Given the description of an element on the screen output the (x, y) to click on. 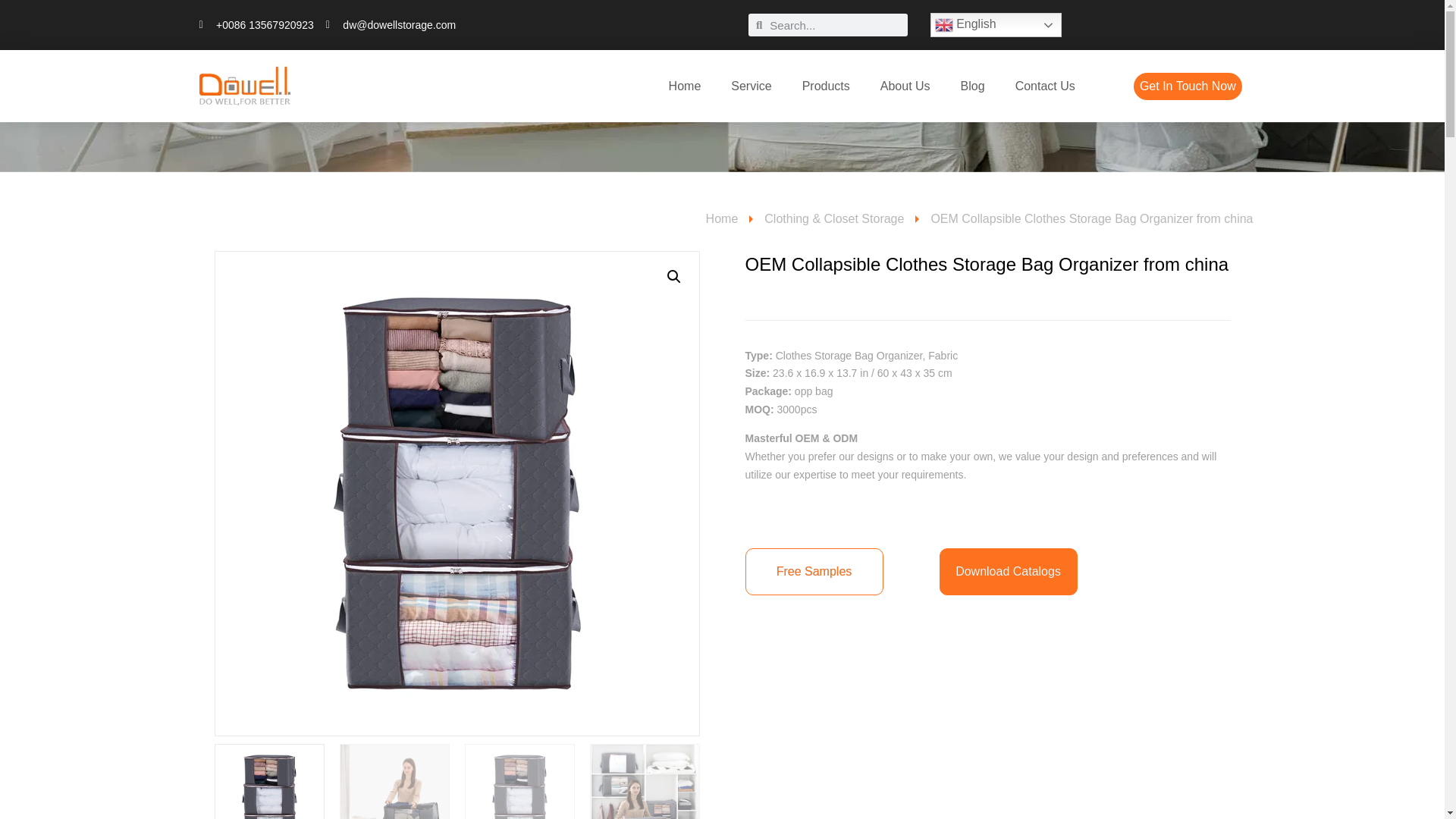
Products (825, 86)
English (995, 24)
Home (685, 86)
Service (750, 86)
